Given the description of an element on the screen output the (x, y) to click on. 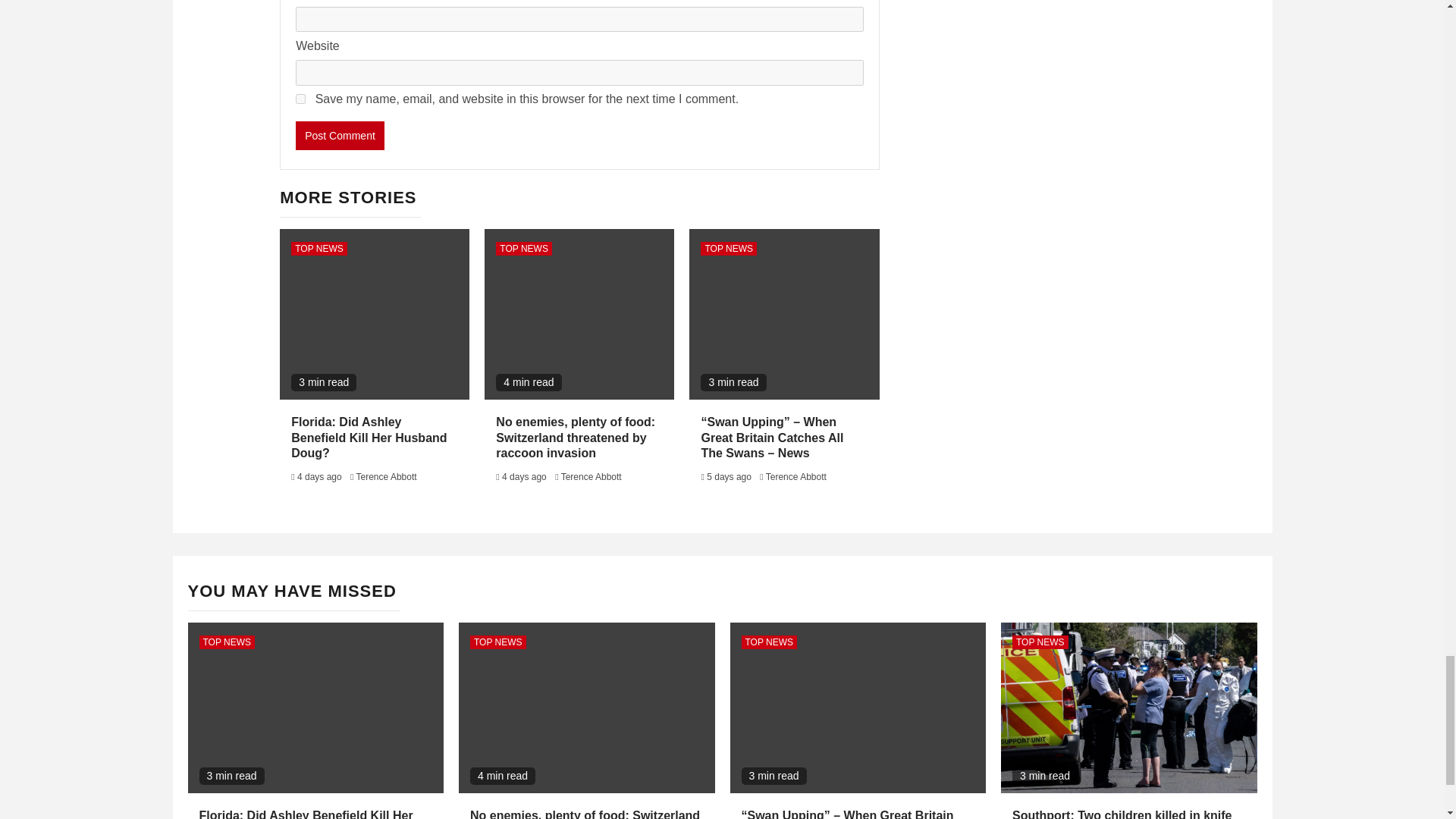
Florida: Did Ashley Benefield Kill Her Husband Doug? (368, 437)
Terence Abbott (590, 476)
yes (300, 99)
Terence Abbott (386, 476)
TOP NEWS (319, 248)
TOP NEWS (728, 248)
Post Comment (339, 135)
Post Comment (339, 135)
TOP NEWS (523, 248)
